Given the description of an element on the screen output the (x, y) to click on. 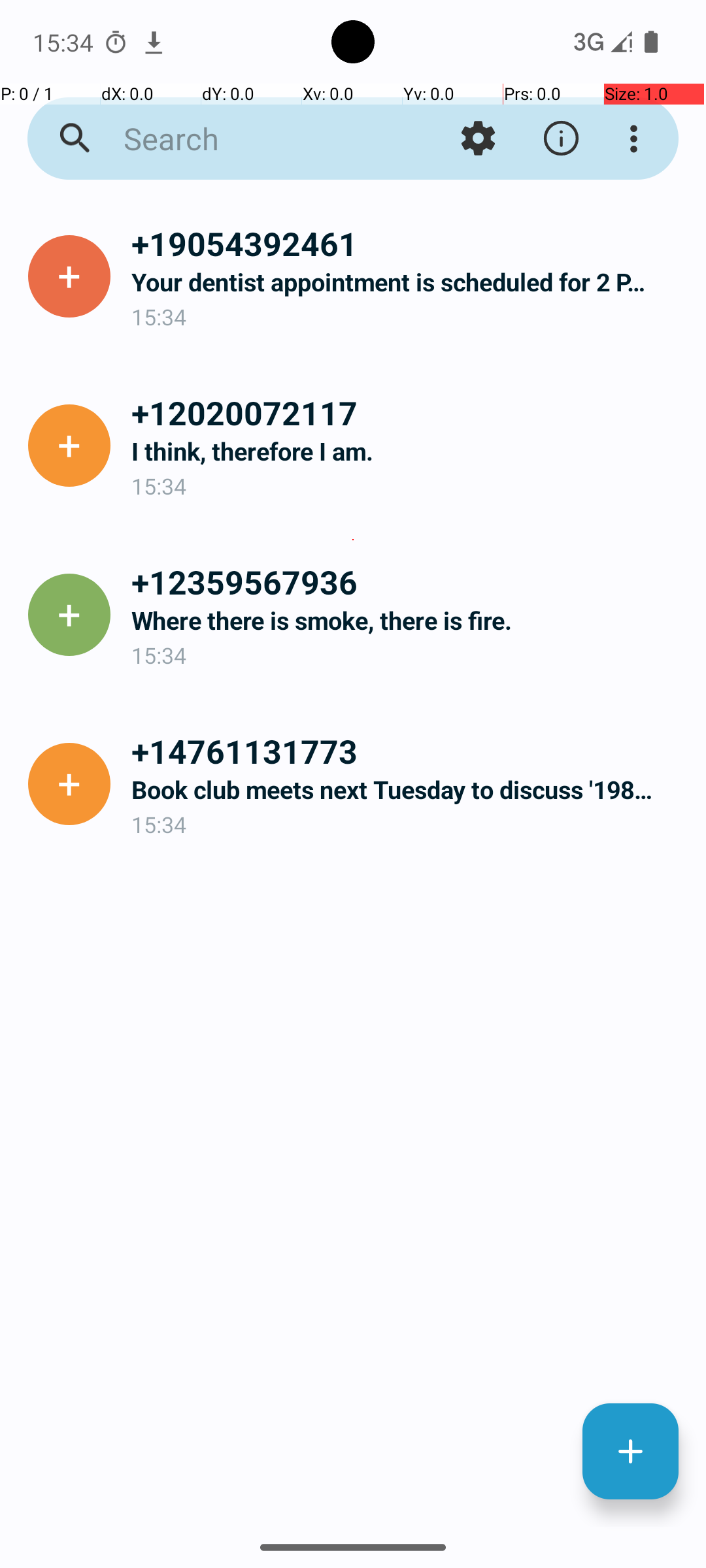
+19054392461 Element type: android.widget.TextView (408, 242)
Your dentist appointment is scheduled for 2 PM on Thursday. Element type: android.widget.TextView (408, 281)
+12020072117 Element type: android.widget.TextView (408, 412)
I think, therefore I am. Element type: android.widget.TextView (408, 450)
+12359567936 Element type: android.widget.TextView (408, 581)
Where there is smoke, there is fire. Element type: android.widget.TextView (408, 620)
+14761131773 Element type: android.widget.TextView (408, 750)
